Given the description of an element on the screen output the (x, y) to click on. 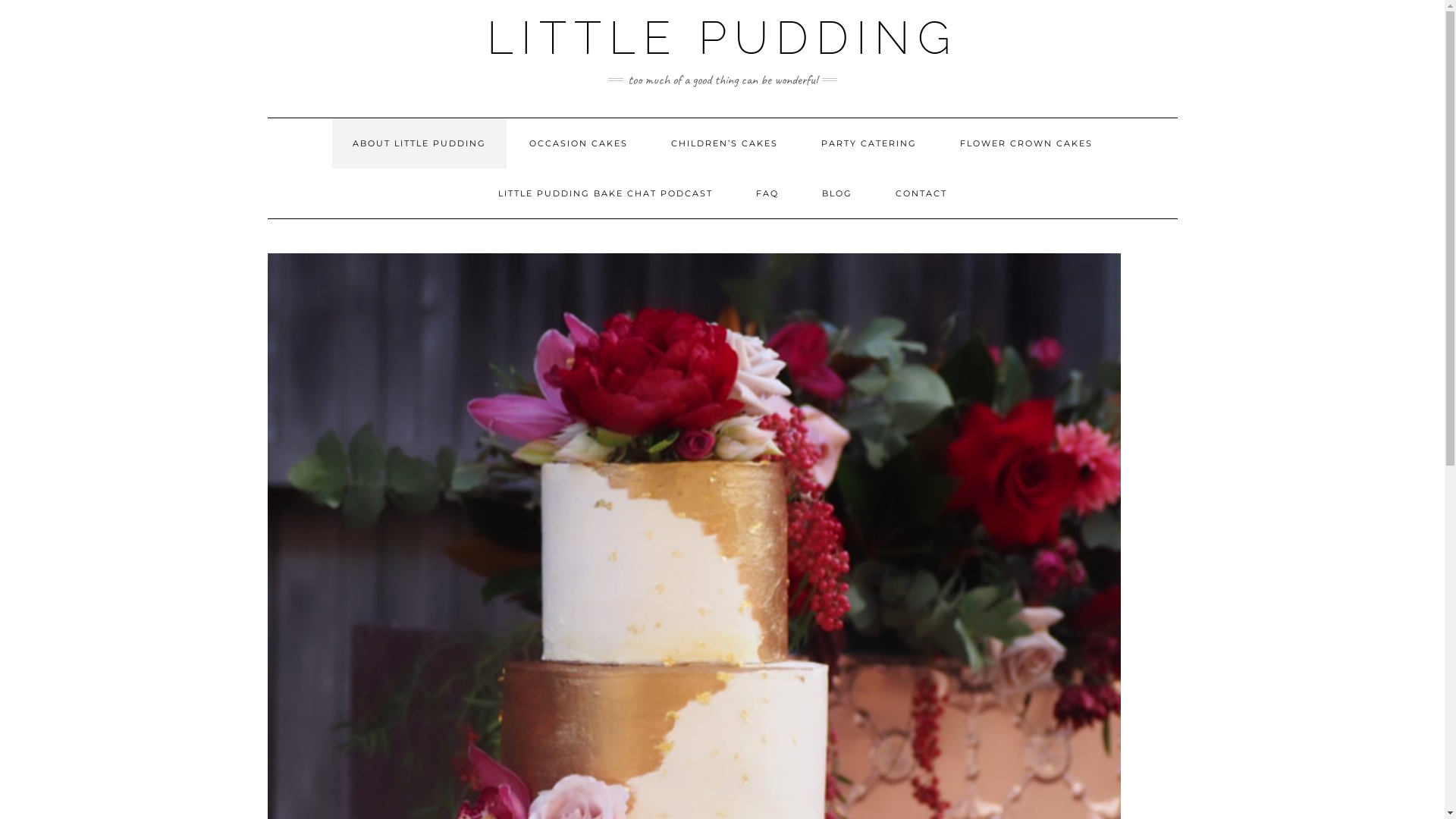
FAQ Element type: text (767, 193)
FLOWER CROWN CAKES Element type: text (1025, 143)
LITTLE PUDDING BAKE CHAT PODCAST Element type: text (605, 193)
LITTLE PUDDING Element type: text (721, 37)
CONTACT Element type: text (921, 193)
BLOG Element type: text (836, 193)
ABOUT LITTLE PUDDING Element type: text (419, 143)
OCCASION CAKES Element type: text (577, 143)
PARTY CATERING Element type: text (868, 143)
